Given the description of an element on the screen output the (x, y) to click on. 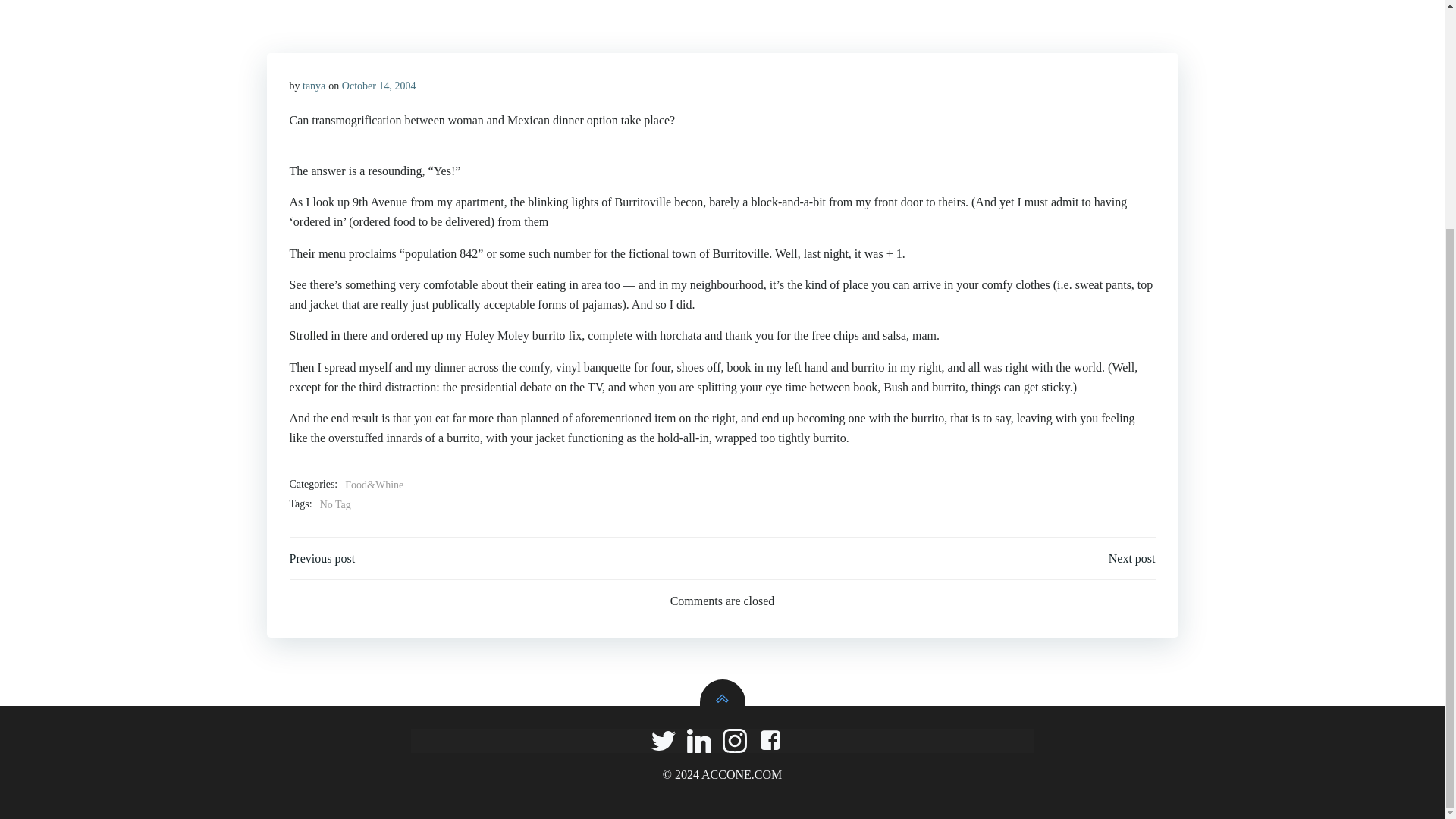
Previous post (322, 558)
October 14, 2004 (379, 85)
tanya (313, 85)
Next post (1132, 558)
